Given the description of an element on the screen output the (x, y) to click on. 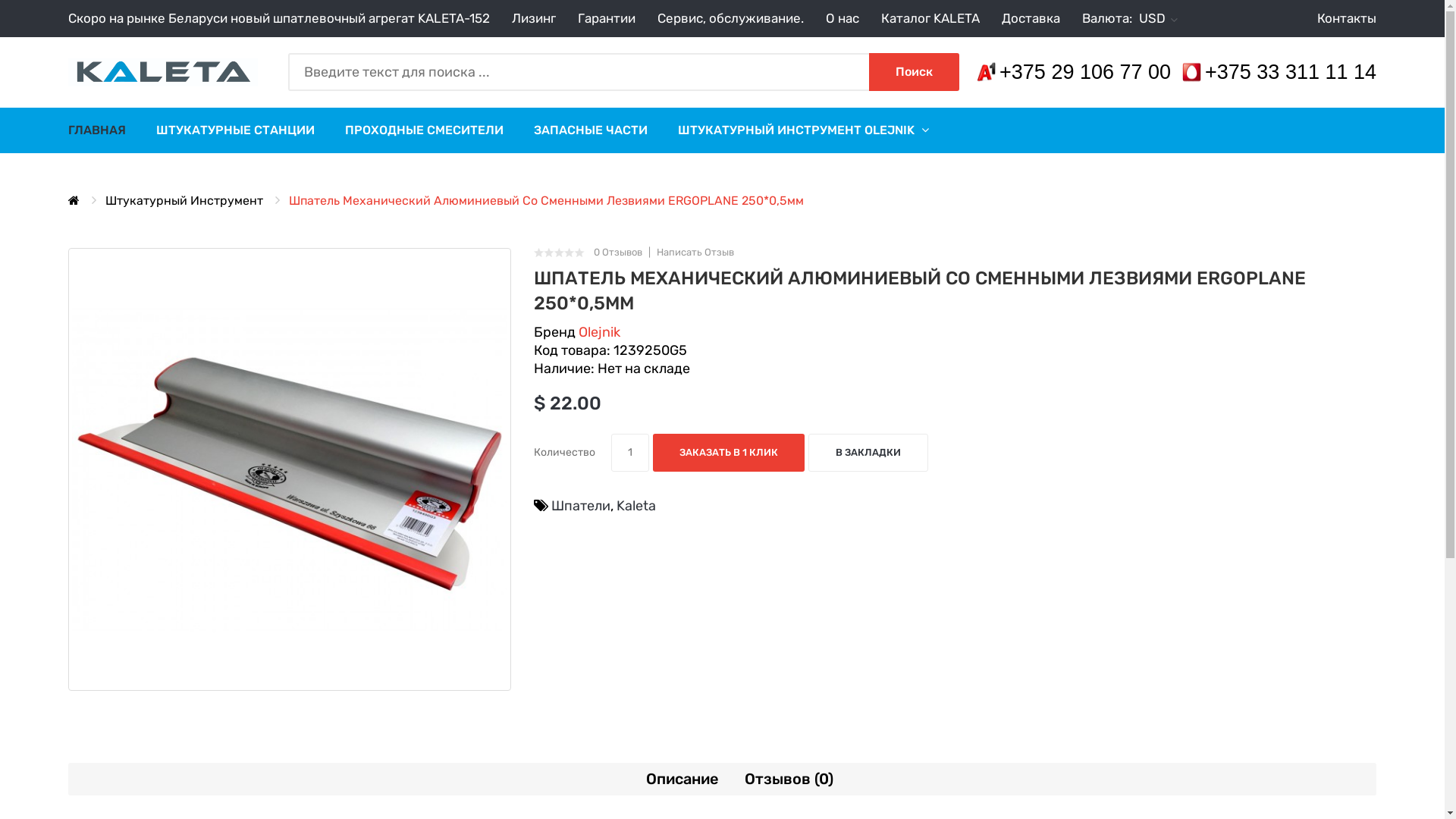
Olejnik Element type: text (599, 331)
USD Element type: text (1158, 18)
Kaleta Element type: text (635, 505)
